Given the description of an element on the screen output the (x, y) to click on. 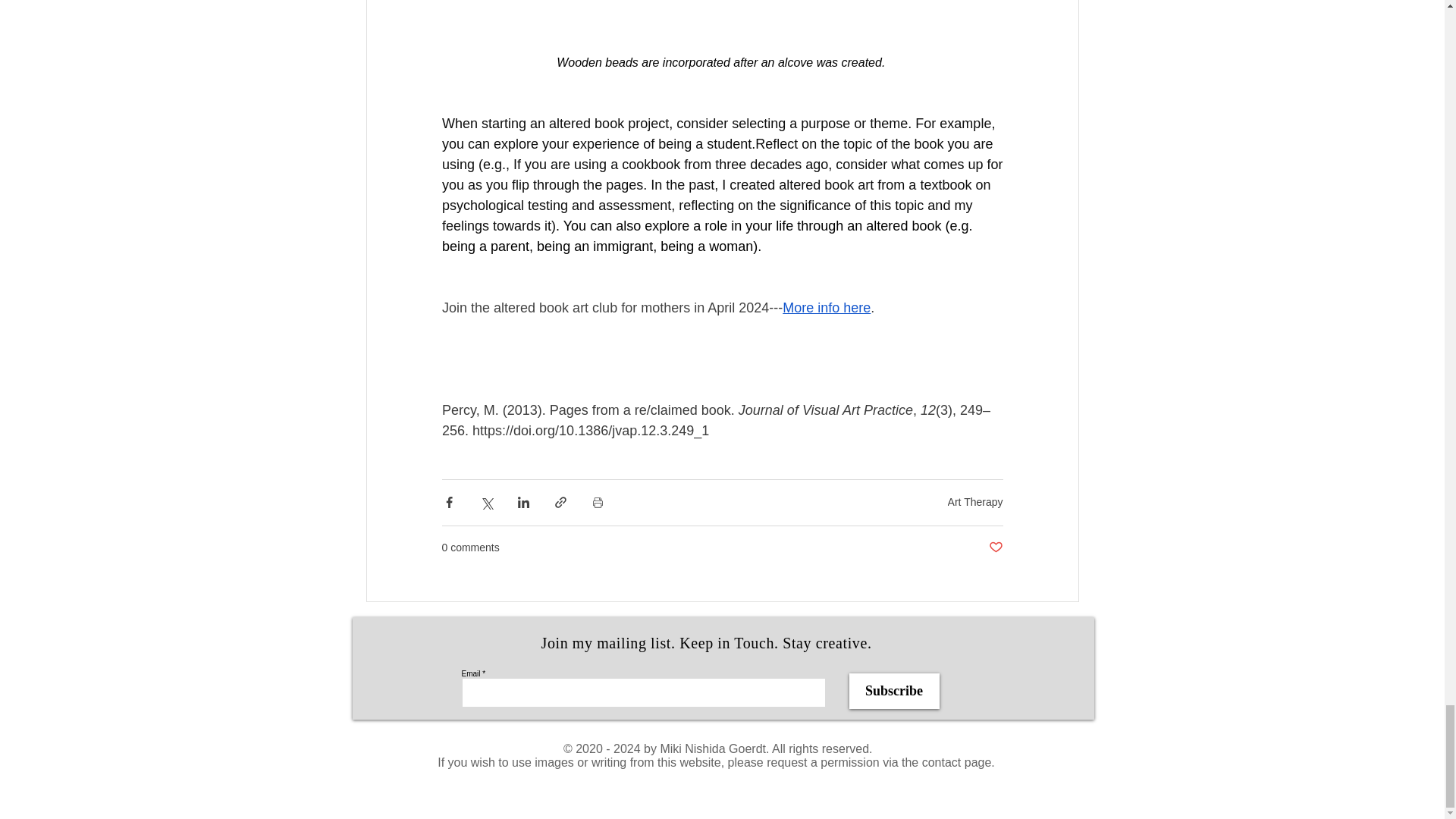
Subscribe (893, 691)
Post not marked as liked (995, 547)
More info here (826, 307)
Art Therapy (975, 501)
